Given the description of an element on the screen output the (x, y) to click on. 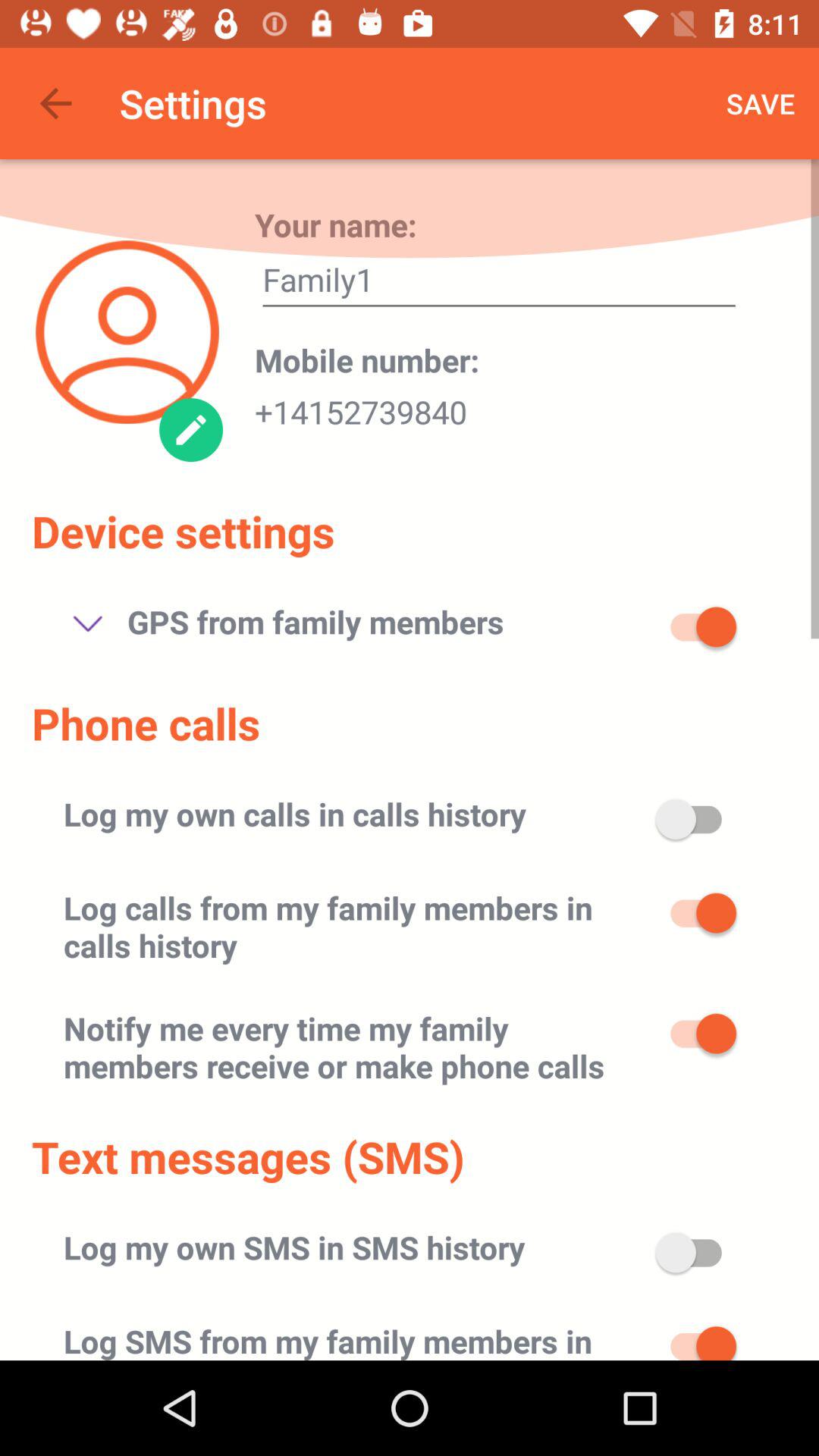
choose the icon above +14152739840 icon (366, 359)
